Given the description of an element on the screen output the (x, y) to click on. 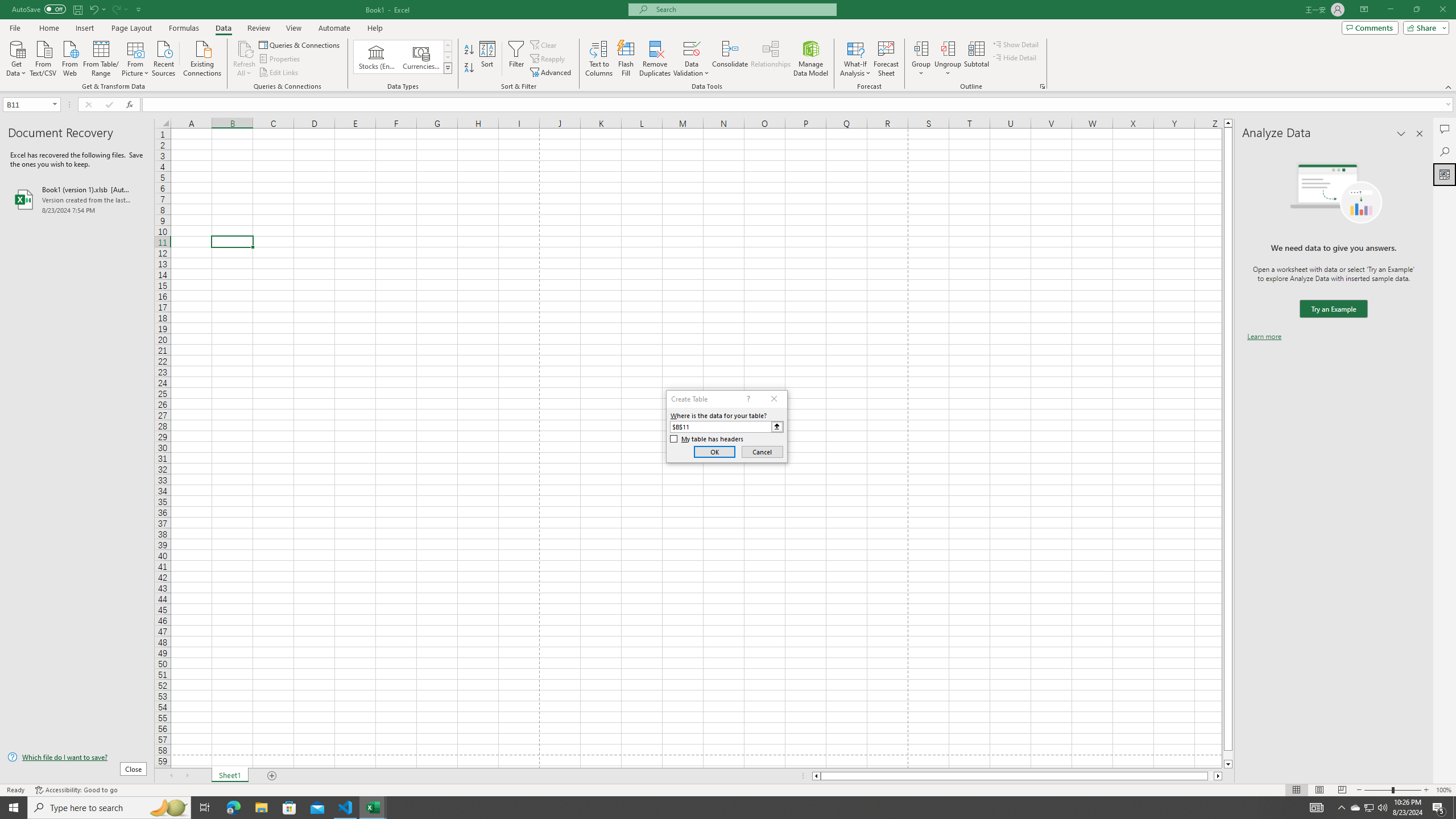
Properties (280, 58)
Subtotal (976, 58)
Sort... (487, 58)
Text to Columns... (598, 58)
Recent Sources (163, 57)
What-If Analysis (855, 58)
